Given the description of an element on the screen output the (x, y) to click on. 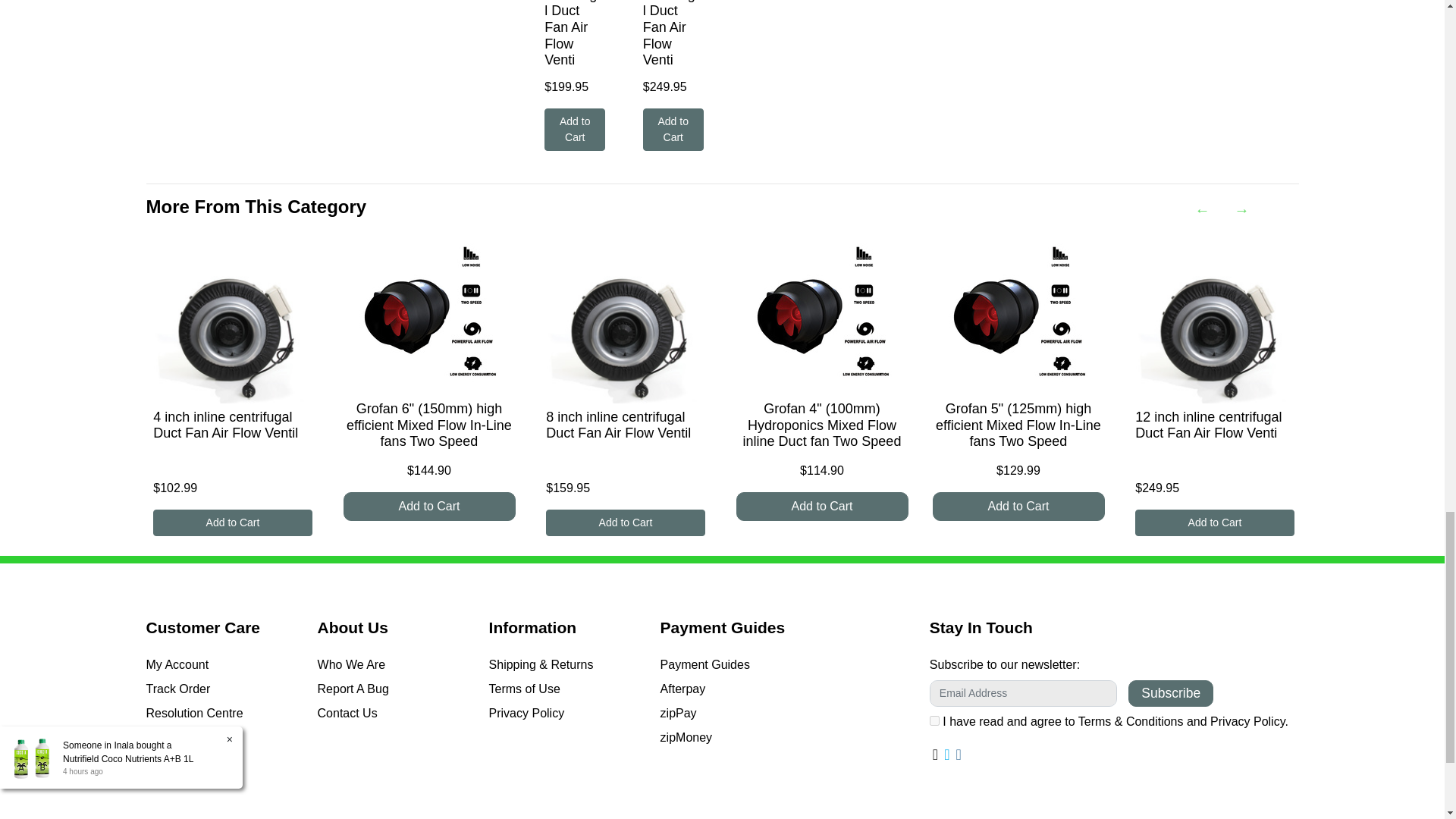
Subscribe (1170, 693)
y (934, 720)
